Given the description of an element on the screen output the (x, y) to click on. 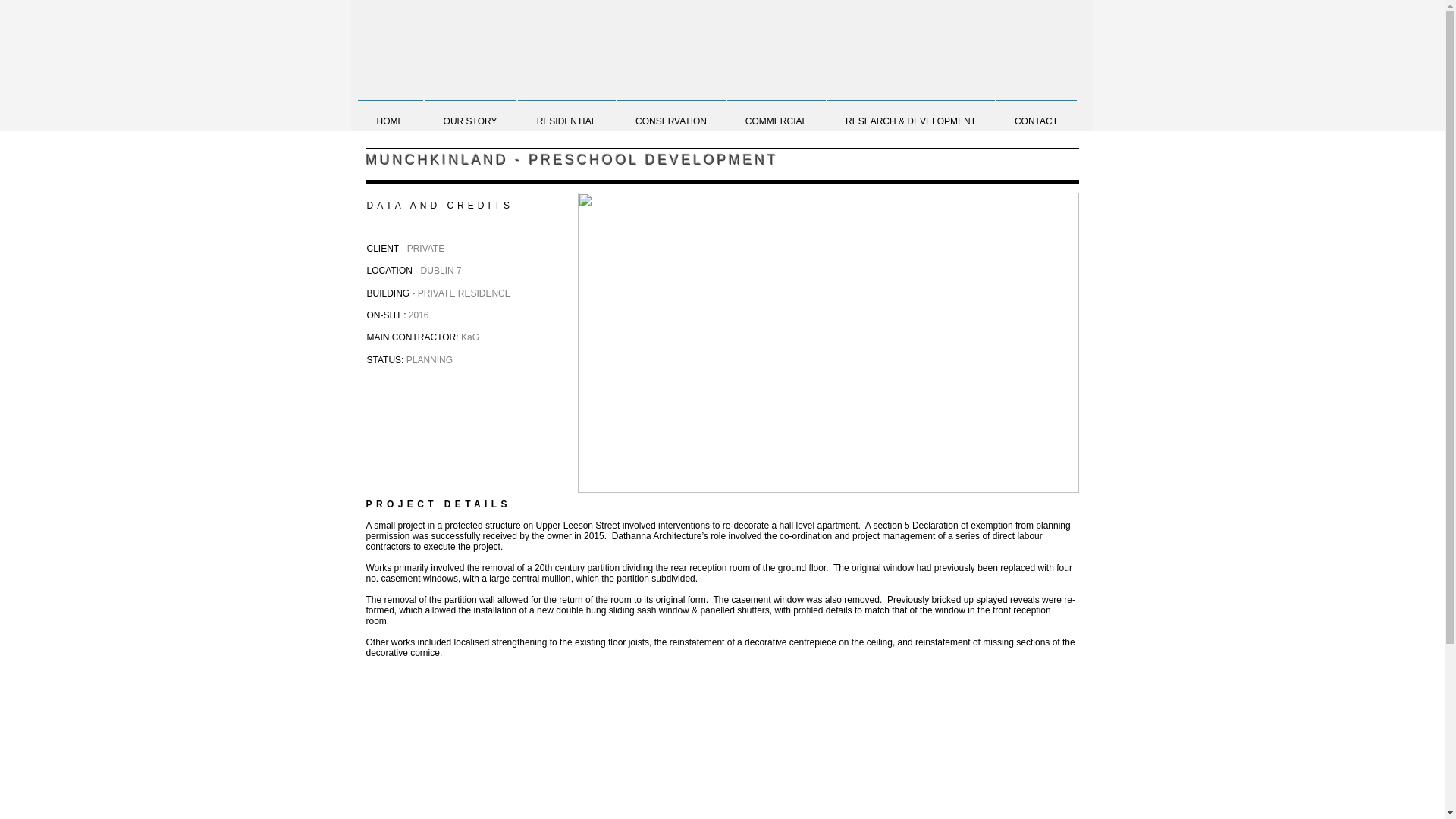
OUR STORY (469, 113)
HOME (389, 113)
RESIDENTIAL (565, 113)
CONSERVATION (670, 113)
COMMERCIAL (776, 113)
CONTACT (1035, 113)
